Given the description of an element on the screen output the (x, y) to click on. 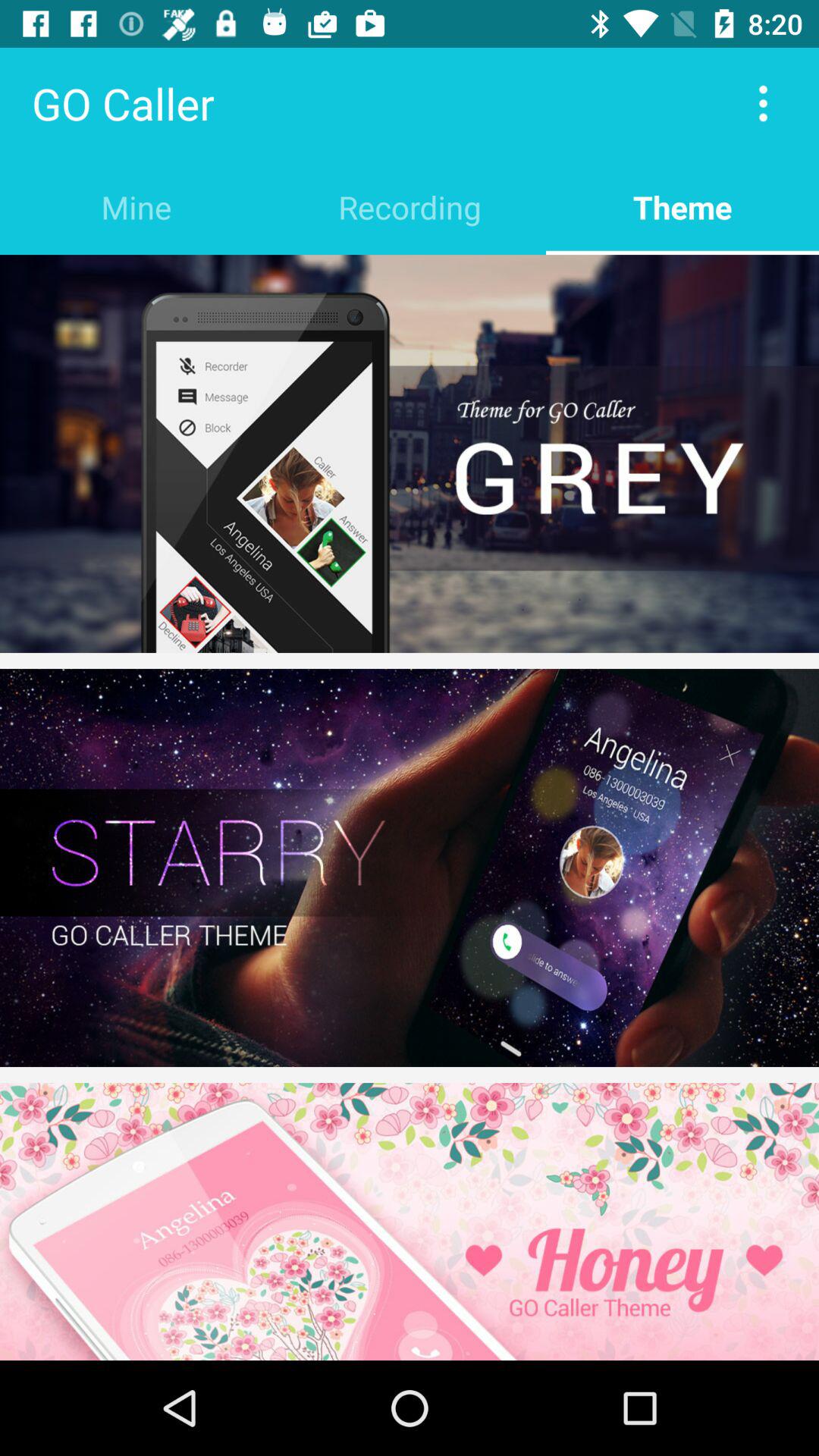
starry wallpaper theme (409, 867)
